Given the description of an element on the screen output the (x, y) to click on. 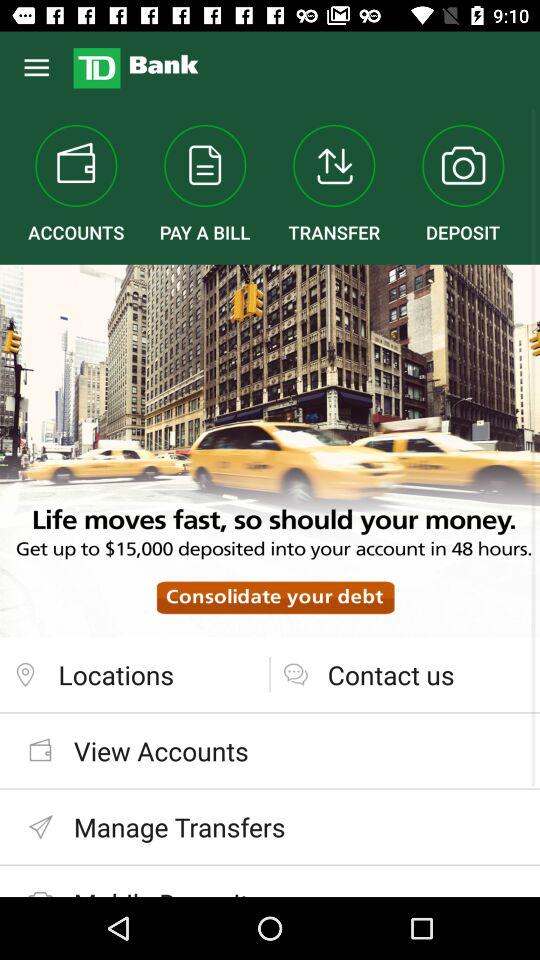
scroll to the pay a bill icon (204, 184)
